Given the description of an element on the screen output the (x, y) to click on. 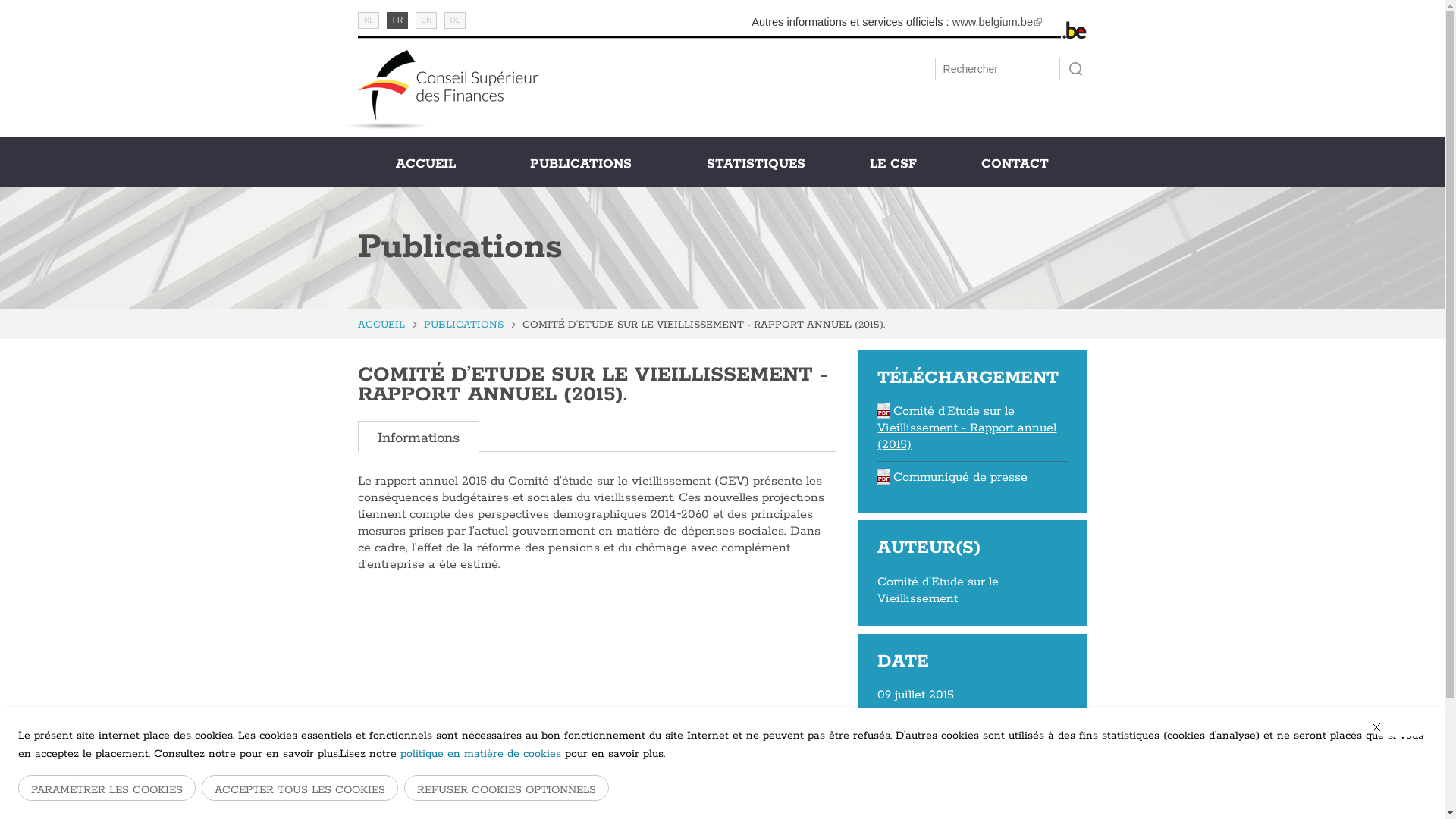
Informations
(onglet actif) Element type: text (418, 437)
ACCUEIL Element type: text (424, 163)
PUBLICATIONS Element type: text (580, 163)
Fermer Element type: hover (1400, 727)
REFUSER COOKIES OPTIONNELS Element type: text (506, 787)
ACCEPTER TOUS LES COOKIES Element type: text (299, 787)
FR Element type: text (396, 20)
ACCUEIL Element type: text (380, 324)
CONTACT Element type: text (1015, 163)
LE CSF Element type: text (893, 163)
Aller au contenu principal Element type: text (73, 0)
ACCUEIL Element type: text (449, 782)
PUBLICATIONS Element type: text (619, 782)
application/pdf Element type: hover (883, 476)
www.belgium.be
(link is external) Element type: text (996, 21)
STATISTIQUES Element type: text (756, 163)
Rechercher Element type: text (1074, 68)
application/pdf Element type: hover (883, 410)
PUBLICATIONS Element type: text (463, 324)
